Given the description of an element on the screen output the (x, y) to click on. 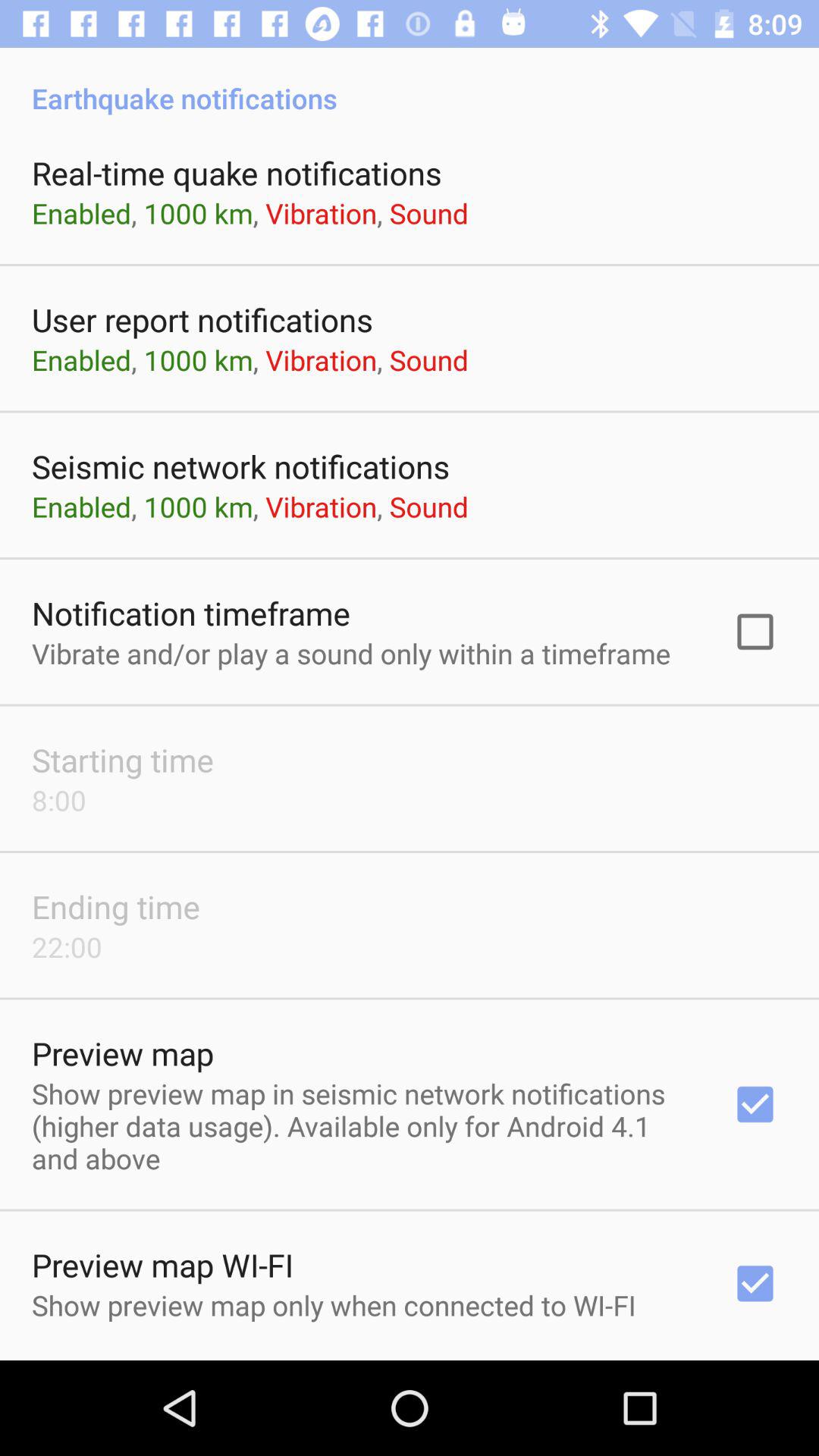
press the chat notifications item (409, 1359)
